Given the description of an element on the screen output the (x, y) to click on. 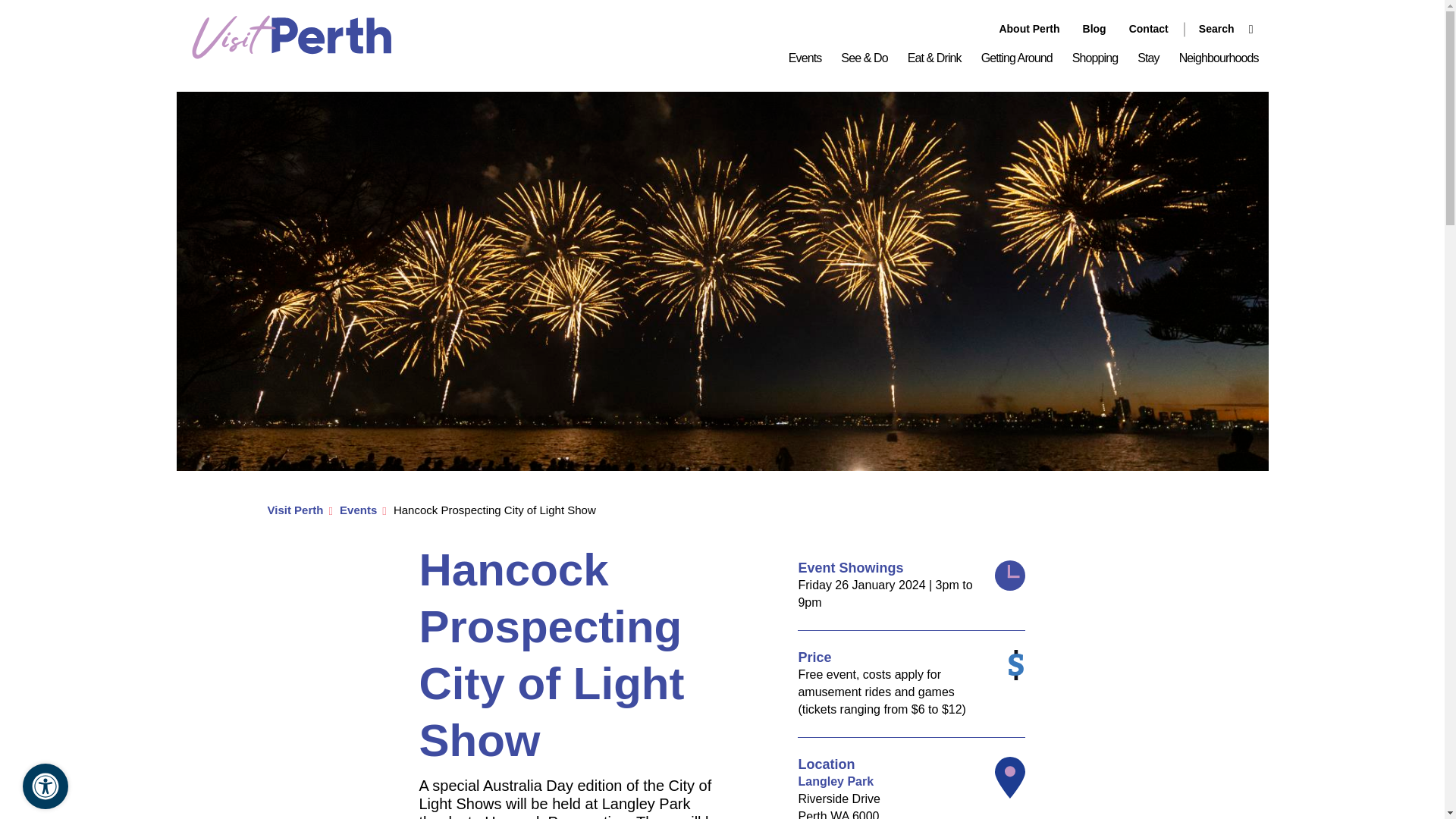
Contact (1149, 28)
About Perth (1028, 28)
Events (804, 58)
Visit Perth (290, 54)
Contact (1149, 28)
Blog (1094, 28)
Getting Around (1016, 58)
Search (1218, 28)
Blog (1094, 28)
